Given the description of an element on the screen output the (x, y) to click on. 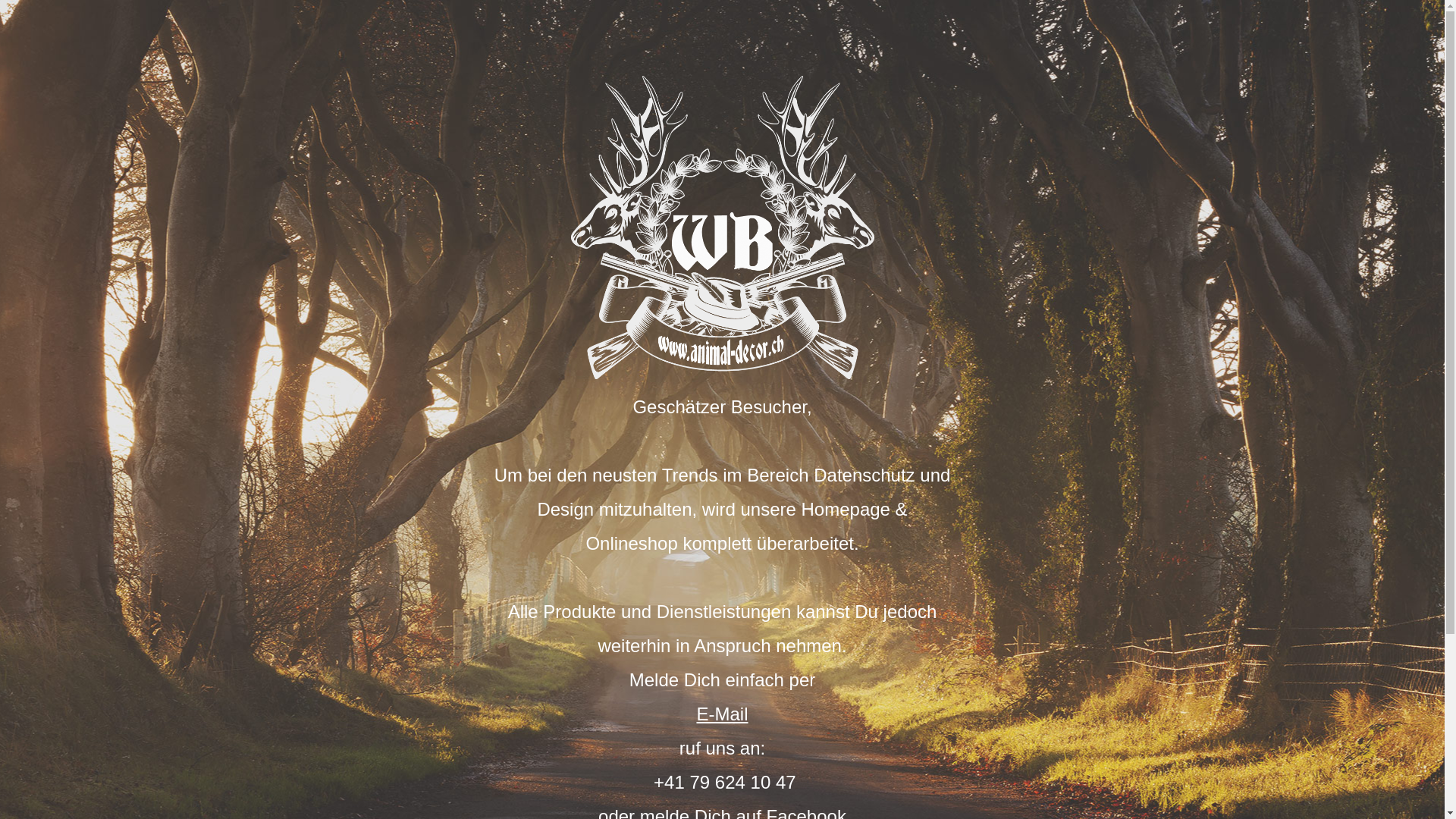
E-Mail Element type: text (721, 713)
